Given the description of an element on the screen output the (x, y) to click on. 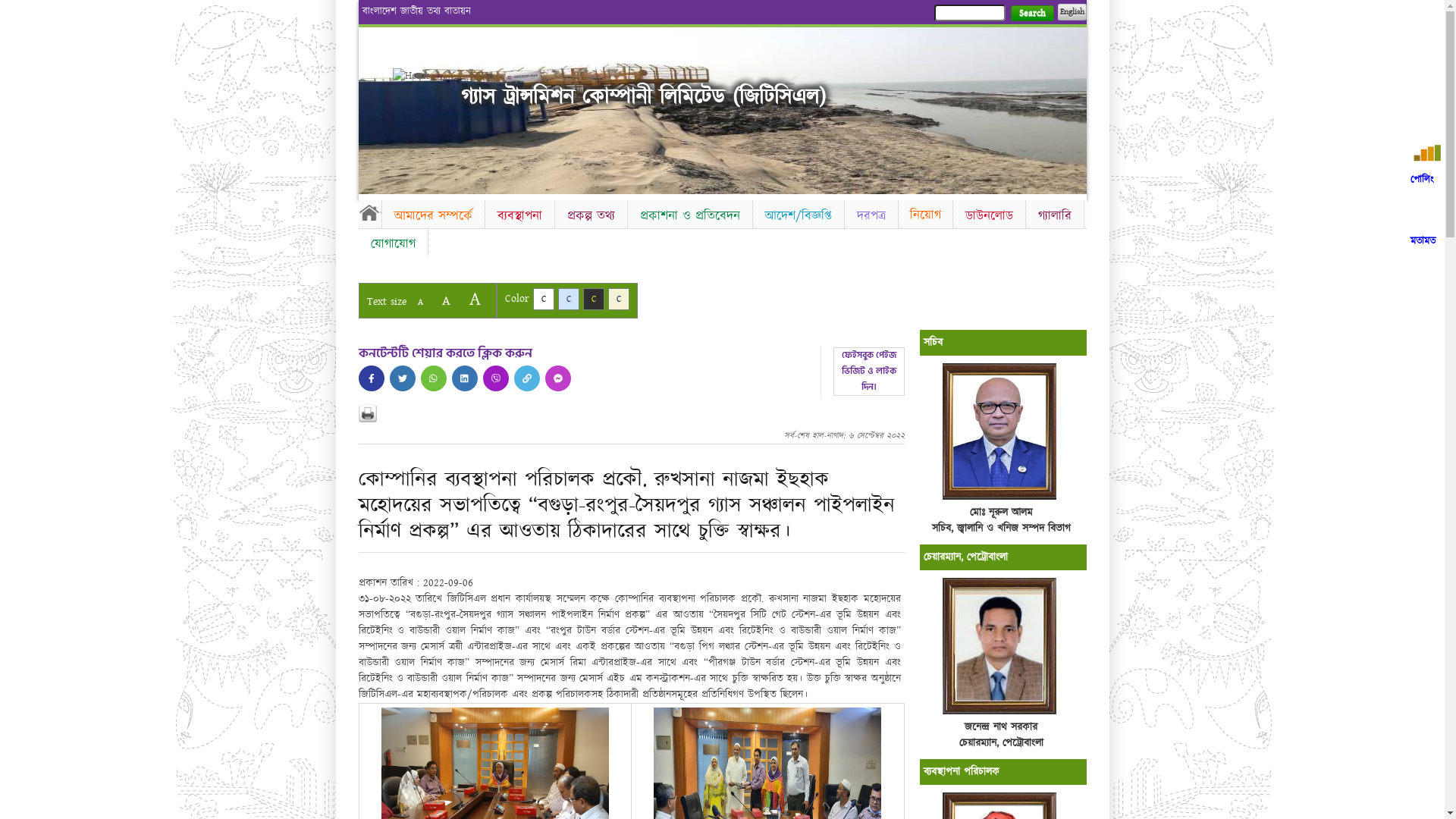
A Element type: text (445, 300)
Home Element type: hover (368, 211)
Home Element type: hover (418, 76)
C Element type: text (618, 299)
C Element type: text (568, 299)
English Element type: text (1071, 11)
Search Element type: text (1031, 13)
C Element type: text (542, 299)
A Element type: text (474, 298)
C Element type: text (592, 299)
A Element type: text (419, 301)
